Given the description of an element on the screen output the (x, y) to click on. 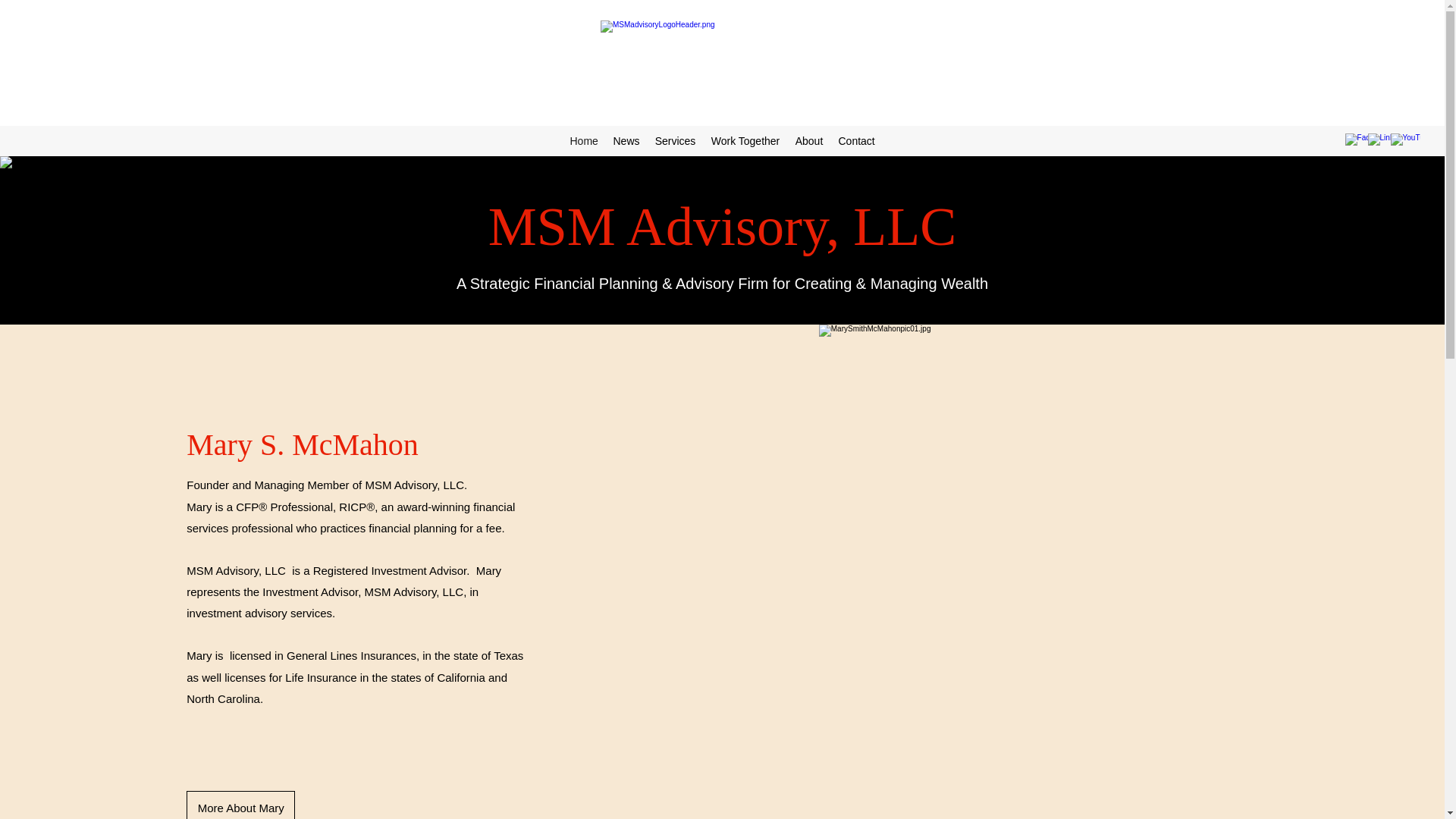
Contact (856, 140)
Work Together (745, 140)
News (625, 140)
More About Mary (240, 805)
Home (583, 140)
About (808, 140)
